Given the description of an element on the screen output the (x, y) to click on. 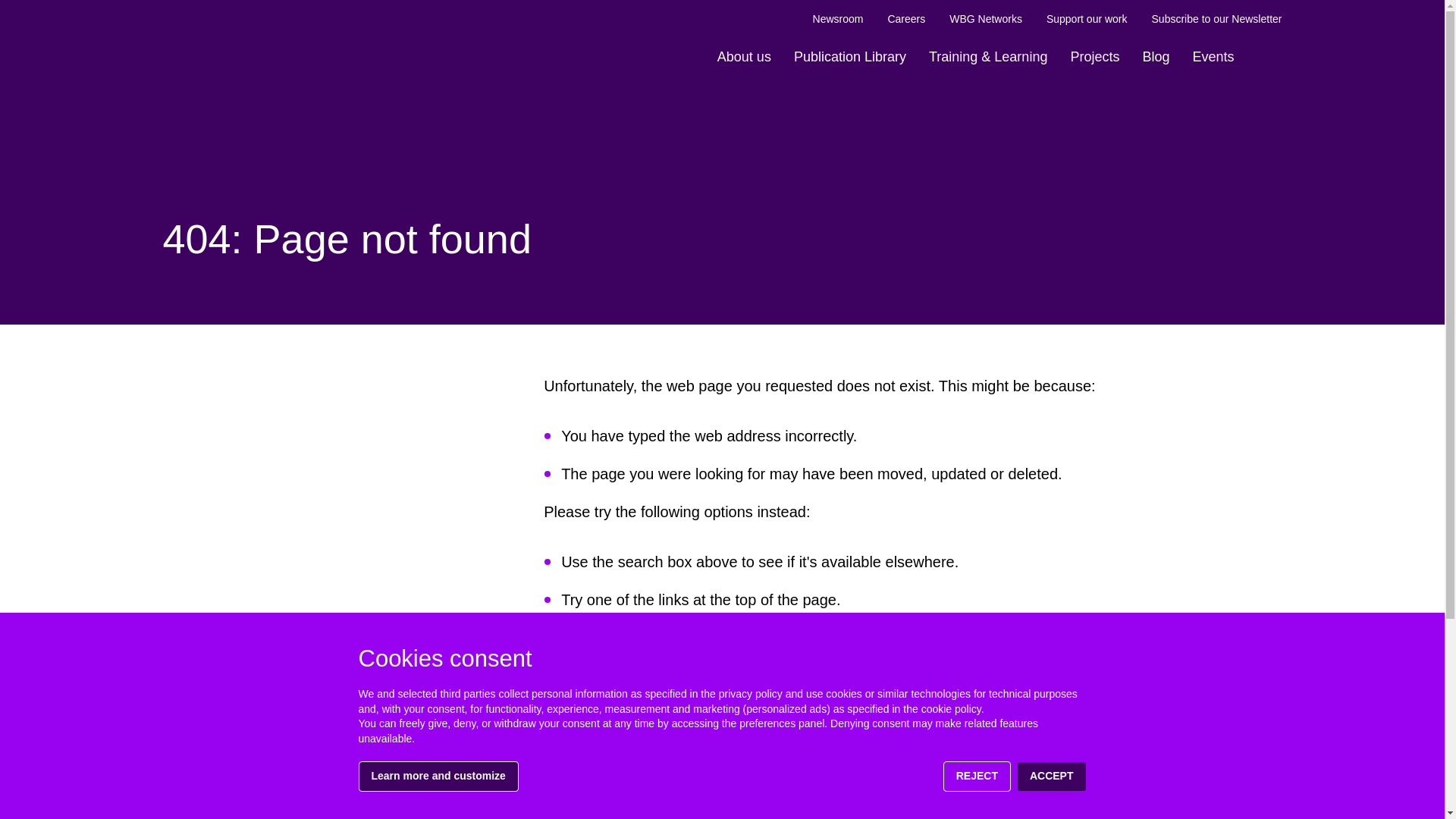
homepage (702, 638)
Subscribe to our Newsletter (1216, 19)
SUBSCRIBE (1235, 809)
Go to homepage (230, 33)
Projects (1093, 56)
Events (1212, 56)
WBG Networks (985, 19)
About us (743, 56)
Publication Library (850, 56)
Blog (1155, 56)
Newsroom (837, 19)
Support our work (1086, 19)
Careers (905, 19)
